Given the description of an element on the screen output the (x, y) to click on. 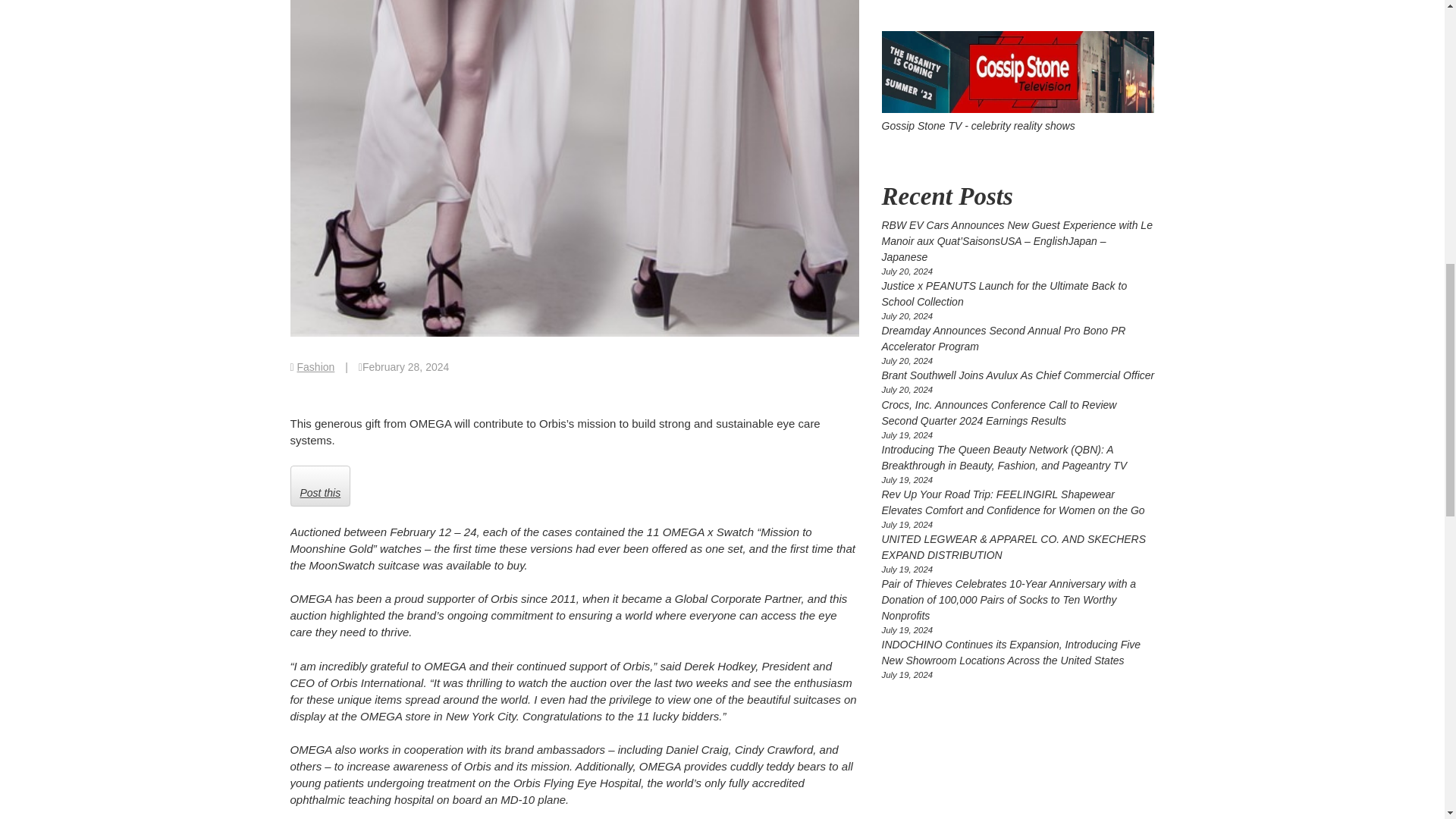
Post this (319, 486)
Fashion (315, 367)
